Given the description of an element on the screen output the (x, y) to click on. 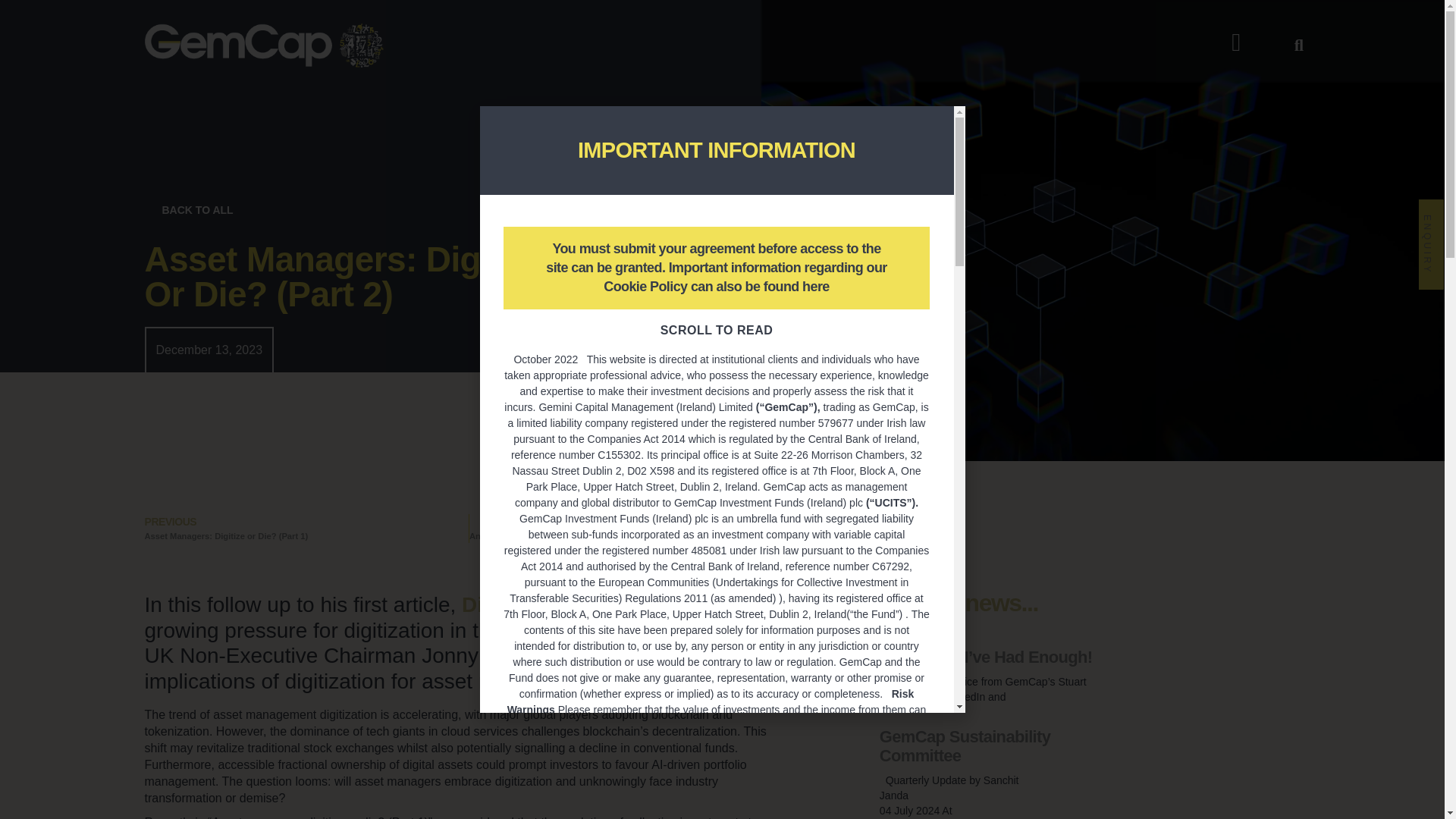
BACK TO ALL (183, 210)
GemCap Sustainability Committee  (964, 745)
